Given the description of an element on the screen output the (x, y) to click on. 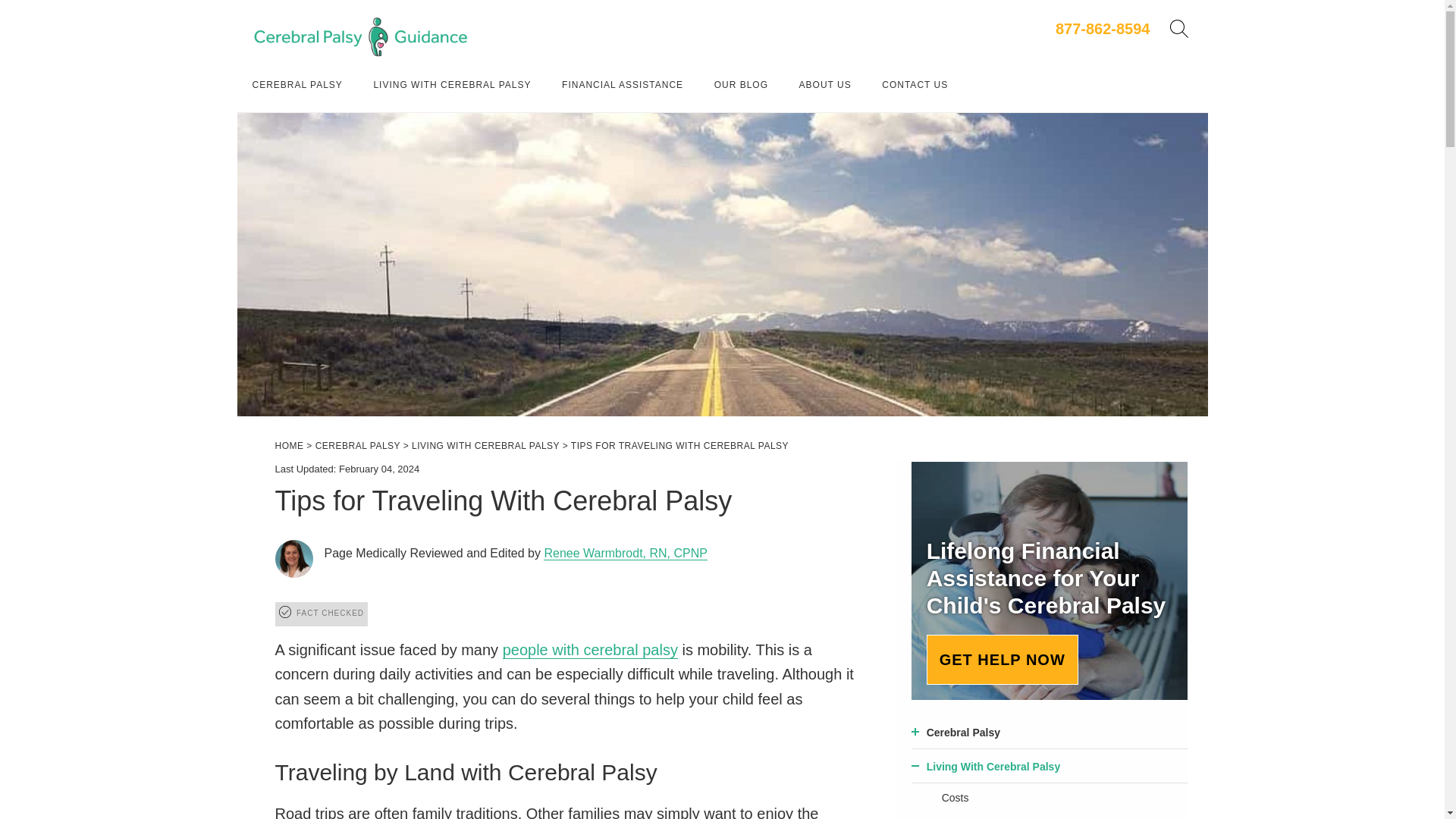
CEREBRAL PALSY GUIDANCE (359, 36)
877-862-8594 (1102, 28)
call us at 866-579-8495 (1102, 28)
View Renee Warmbrodt, RN, CPNP bio (624, 553)
LIVING WITH CEREBRAL PALSY (451, 84)
CEREBRAL PALSY (296, 84)
